Given the description of an element on the screen output the (x, y) to click on. 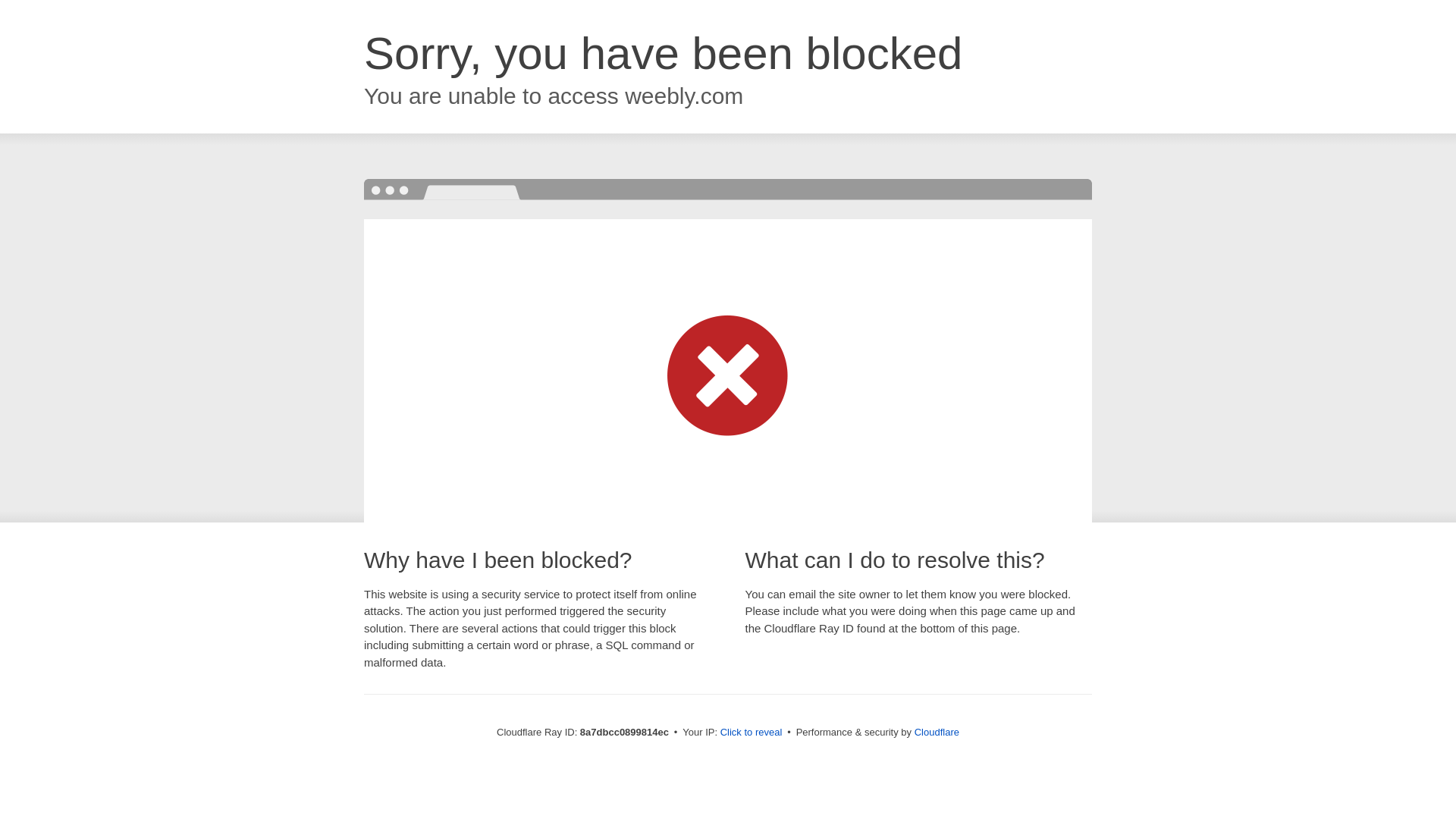
Cloudflare (936, 731)
Click to reveal (751, 732)
